Given the description of an element on the screen output the (x, y) to click on. 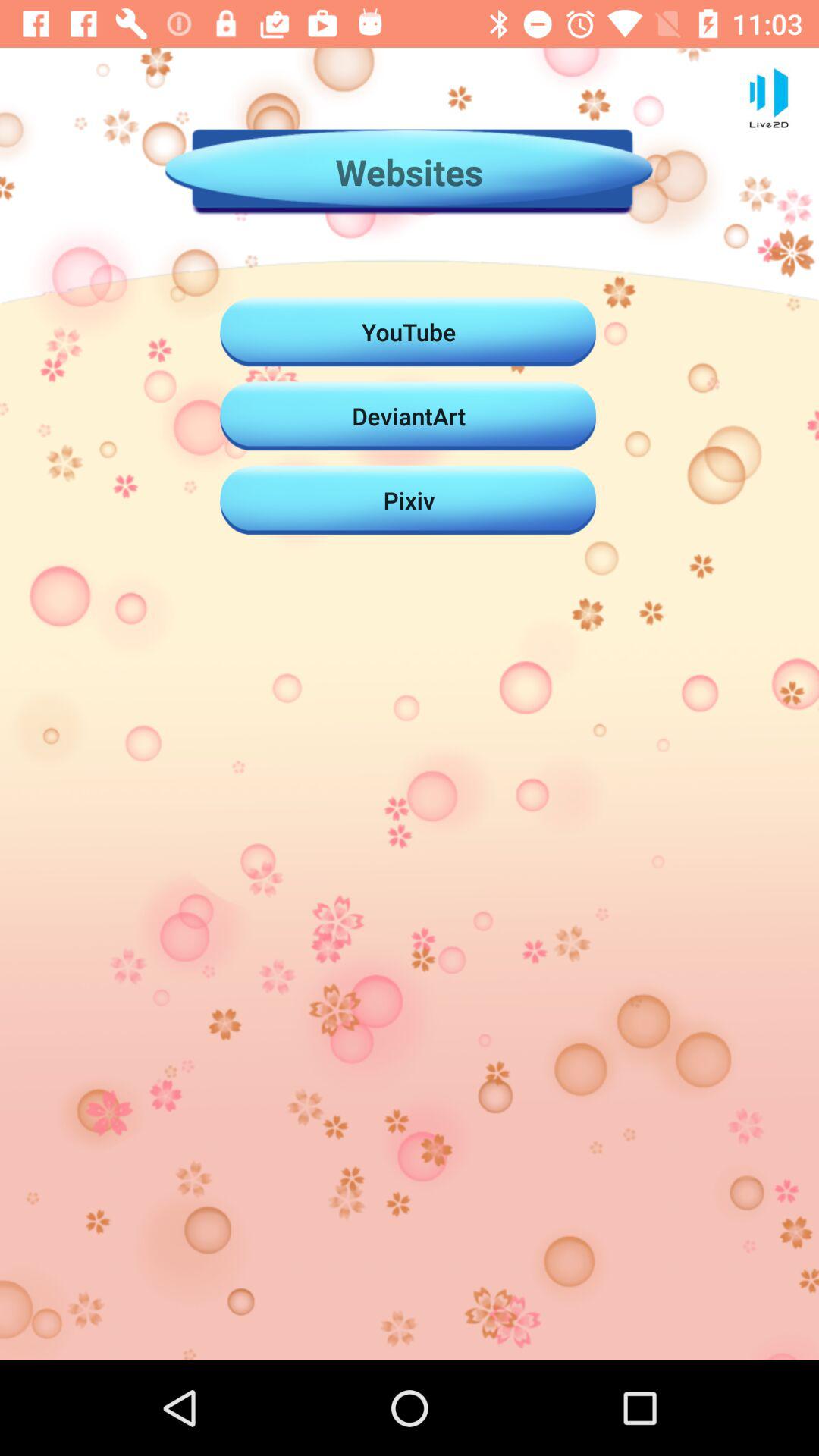
jump until the youtube (409, 331)
